Given the description of an element on the screen output the (x, y) to click on. 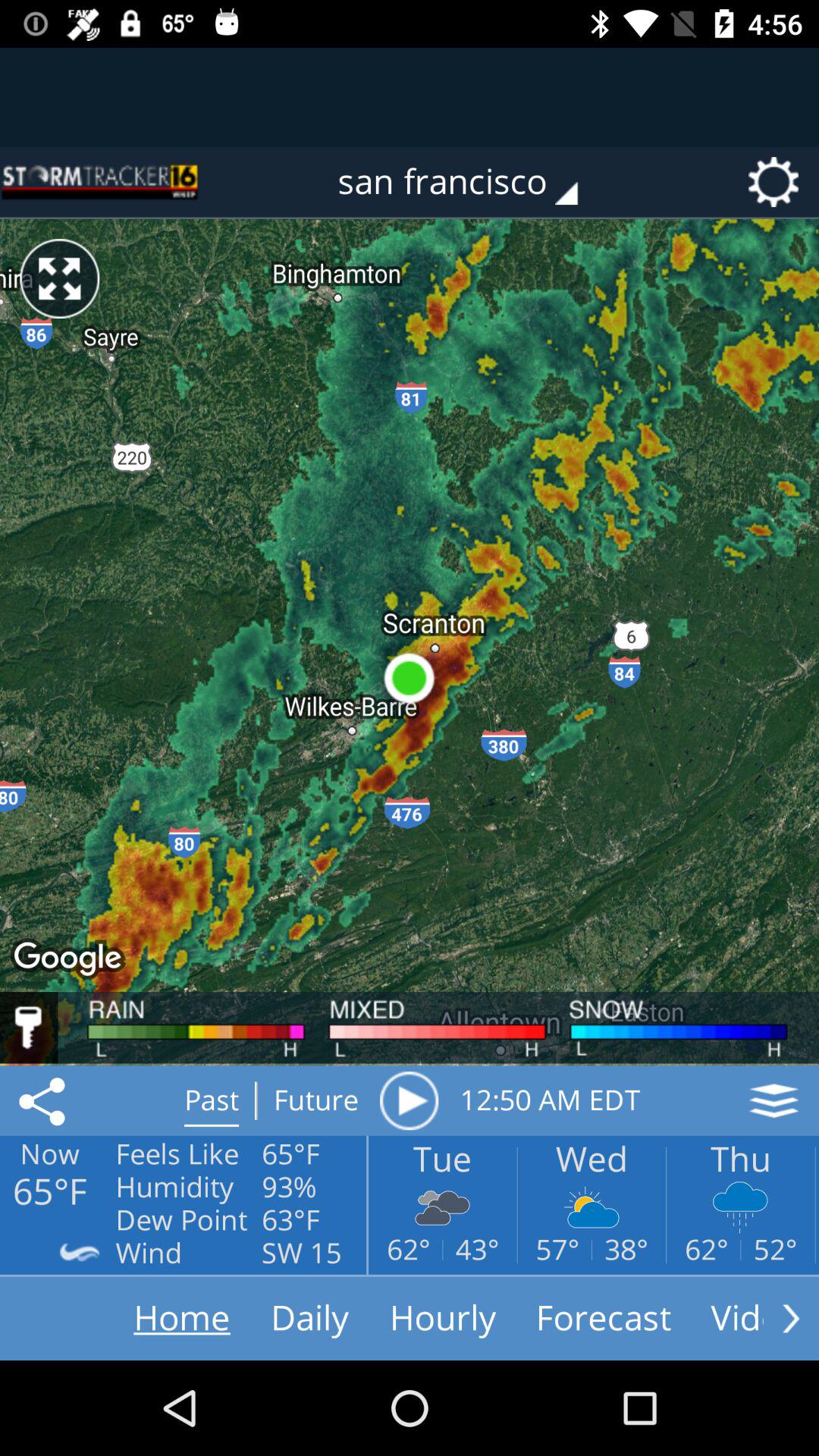
see more (791, 1318)
